Given the description of an element on the screen output the (x, y) to click on. 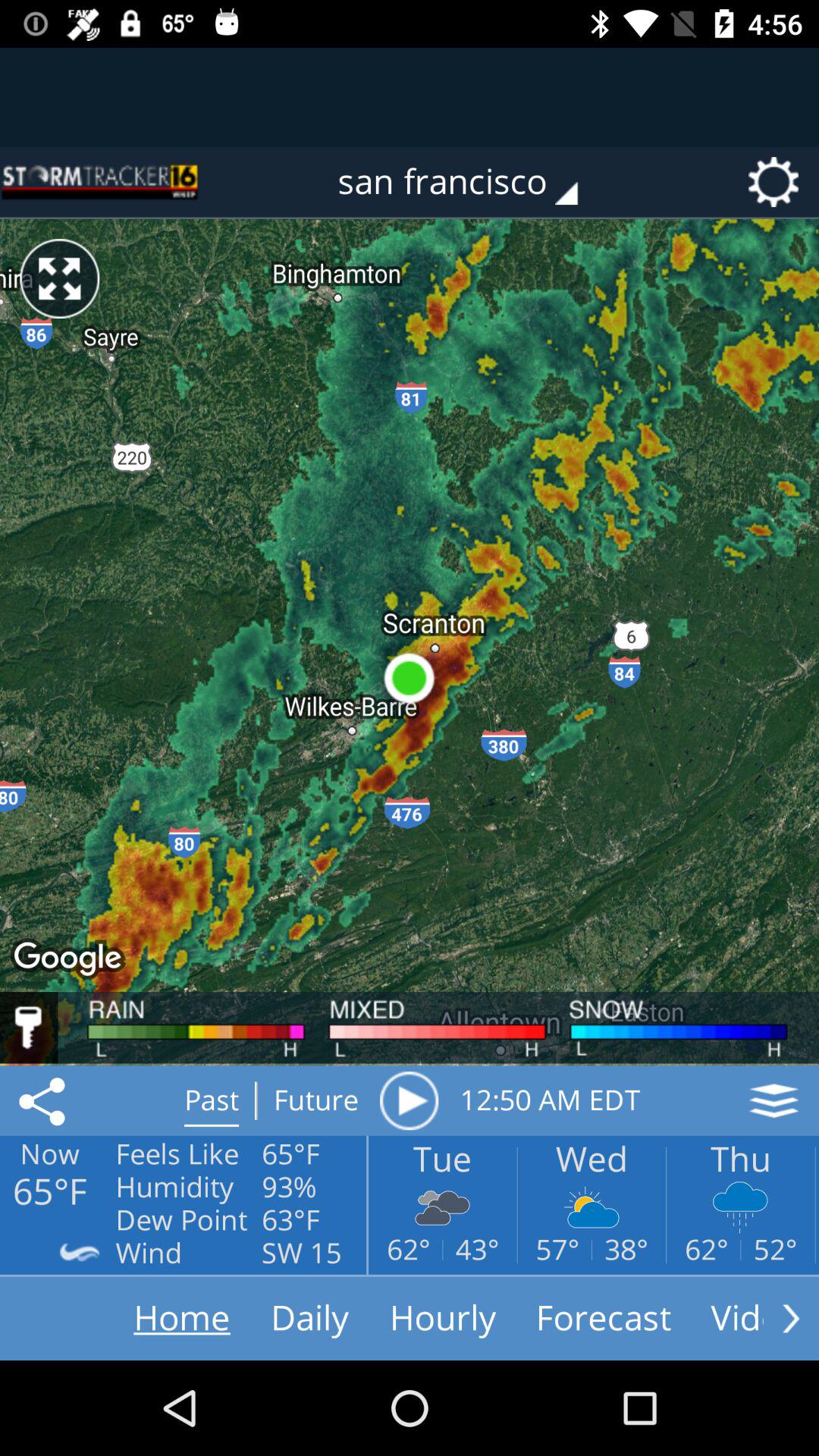
see more (791, 1318)
